Given the description of an element on the screen output the (x, y) to click on. 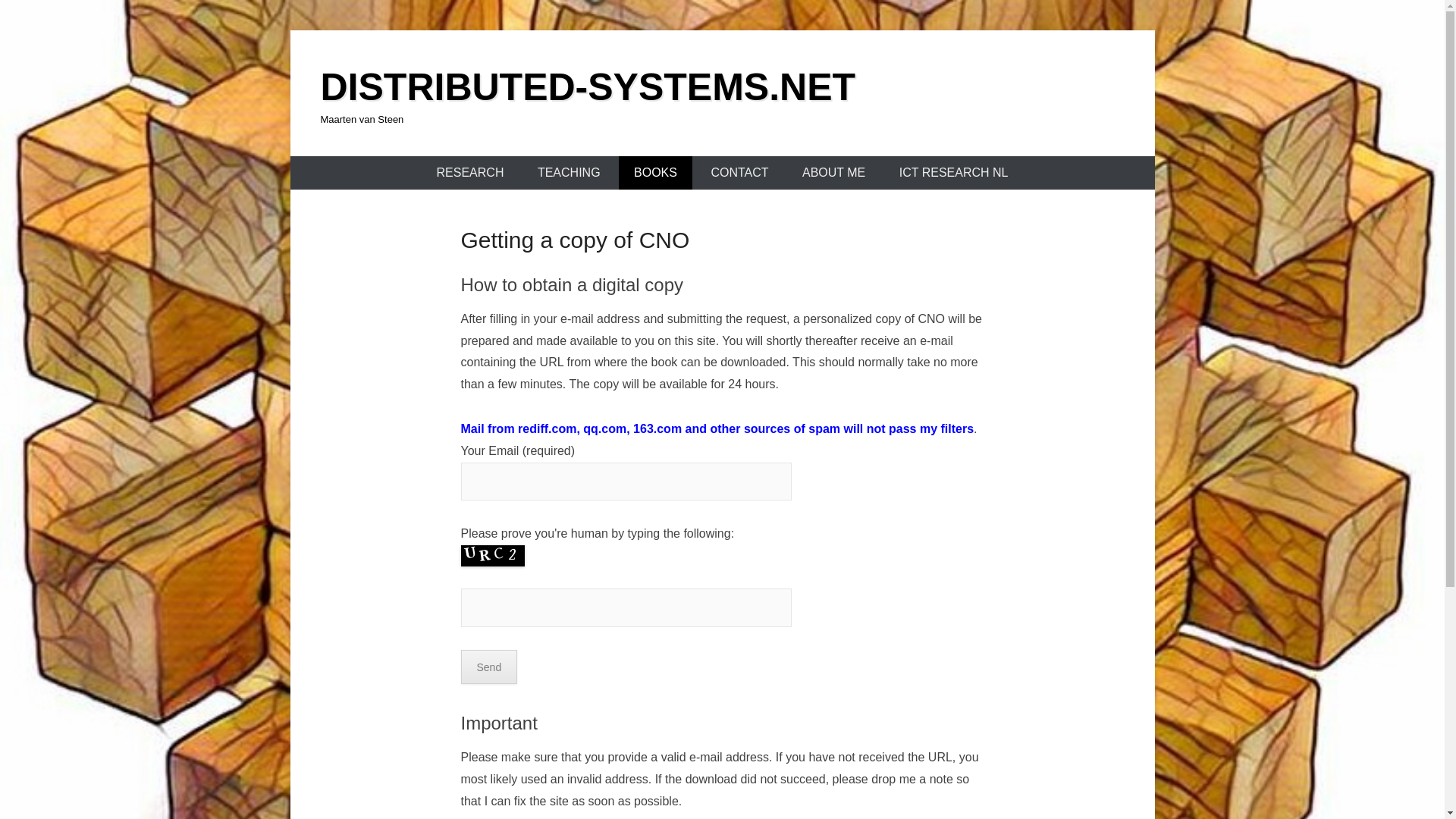
RESEARCH (470, 172)
TEACHING (568, 172)
CONTACT (739, 172)
ICT RESEARCH NL (953, 172)
BOOKS (655, 172)
Send (489, 666)
Send (489, 666)
DISTRIBUTED-SYSTEMS.NET (588, 87)
ABOUT ME (833, 172)
